Given the description of an element on the screen output the (x, y) to click on. 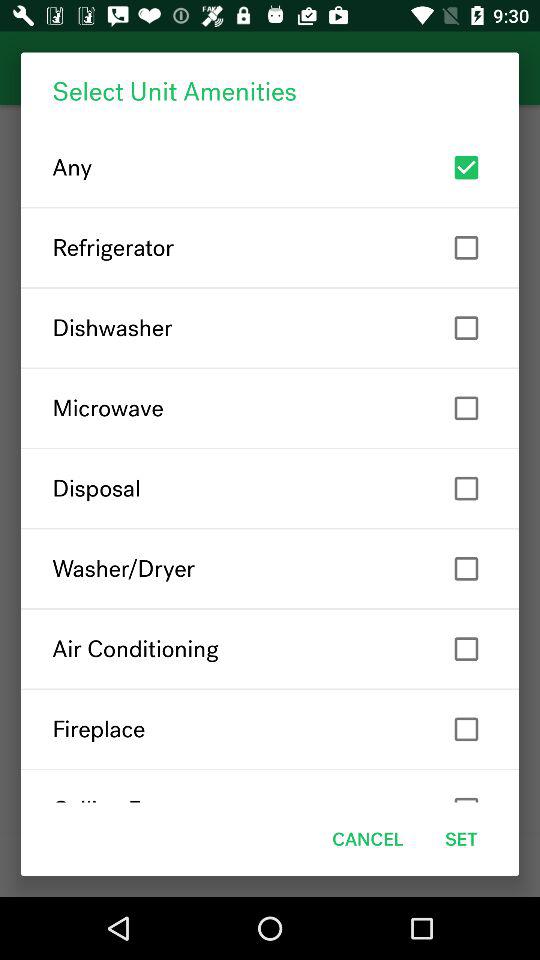
press item below refrigerator (270, 327)
